Given the description of an element on the screen output the (x, y) to click on. 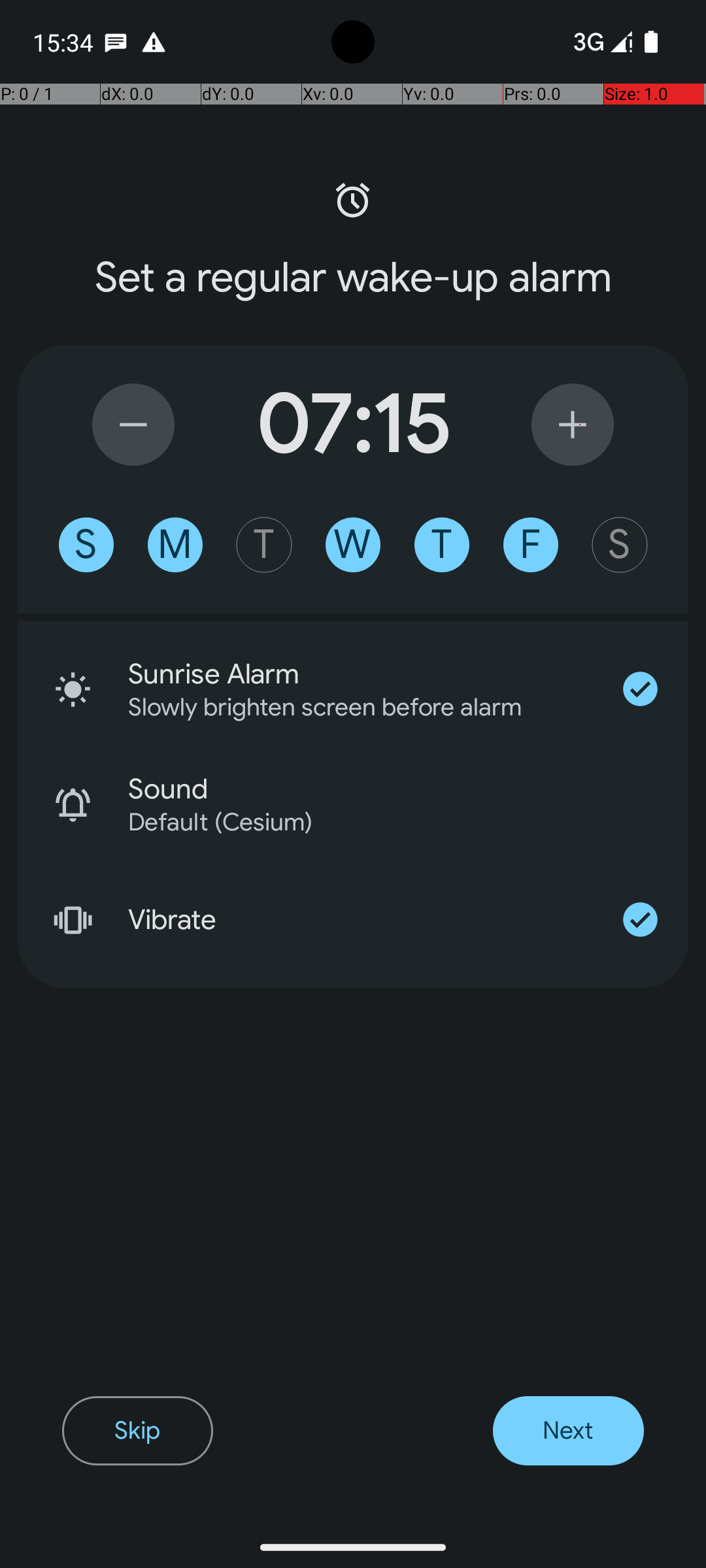
Set a regular wake-up alarm Element type: android.widget.TextView (352, 277)
Fifteen minutes earlier Element type: android.widget.ImageView (133, 424)
07:15 Element type: android.widget.TextView (353, 424)
Fifteen minutes later Element type: android.widget.ImageView (572, 424)
S Element type: android.widget.CheckBox (86, 544)
M Element type: android.widget.CheckBox (175, 544)
T Element type: android.widget.CheckBox (263, 544)
W Element type: android.widget.CheckBox (352, 544)
F Element type: android.widget.CheckBox (530, 544)
Skip Element type: android.widget.Button (137, 1430)
Next Element type: android.widget.Button (567, 1430)
Sunrise Alarm Element type: android.widget.TextView (360, 673)
Slowly brighten screen before alarm Element type: android.widget.TextView (342, 706)
Sound Element type: android.widget.TextView (408, 788)
Default (Cesium) Element type: android.widget.TextView (390, 821)
Vibrate Element type: android.widget.TextView (360, 919)
